Given the description of an element on the screen output the (x, y) to click on. 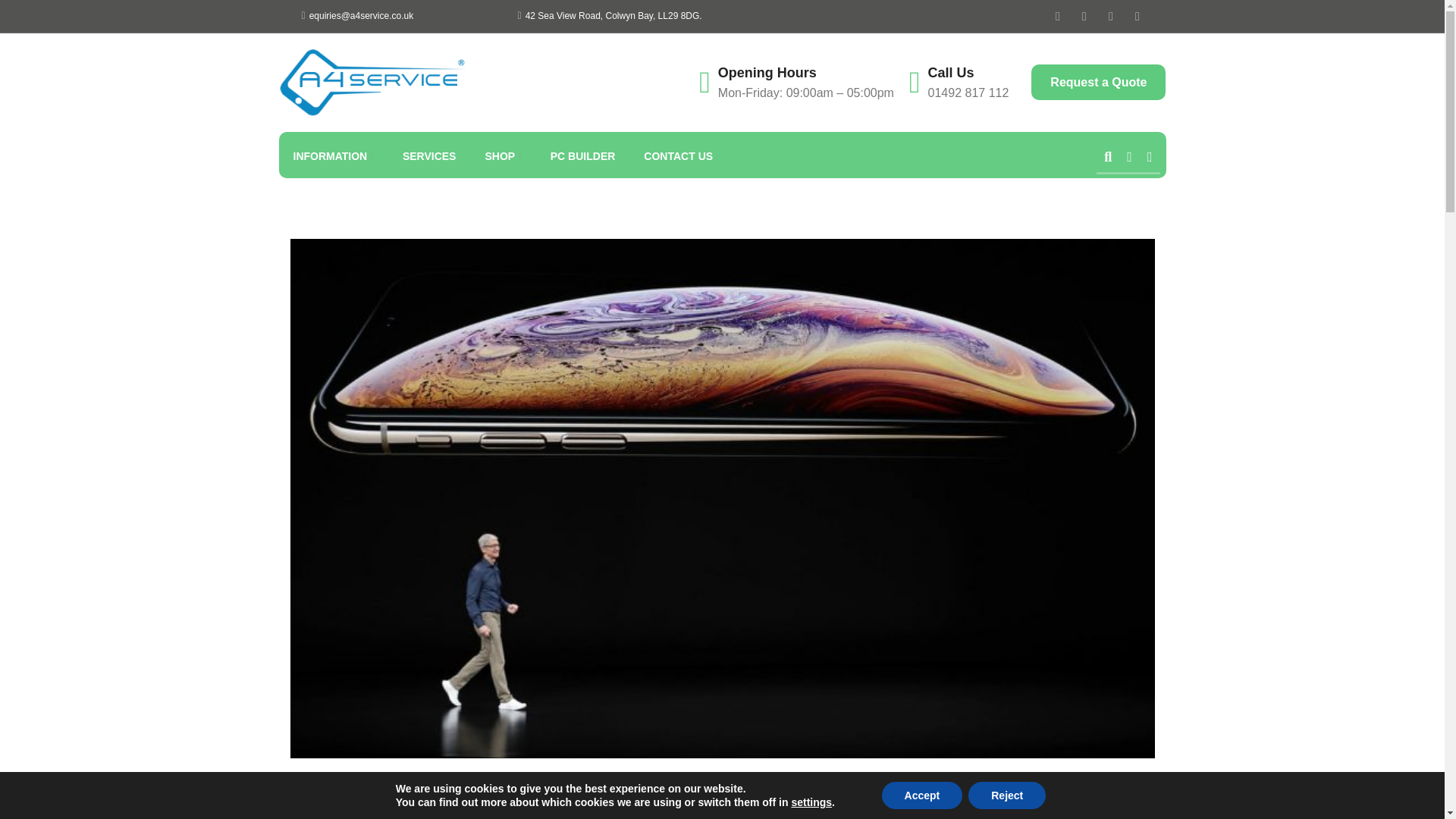
SHOP (502, 156)
Twitter (1084, 15)
INFORMATION (333, 156)
Facebook (1057, 15)
SERVICES (429, 156)
Request a Quote (1098, 81)
LinkedIn (1137, 15)
Youtube (1109, 15)
